Given the description of an element on the screen output the (x, y) to click on. 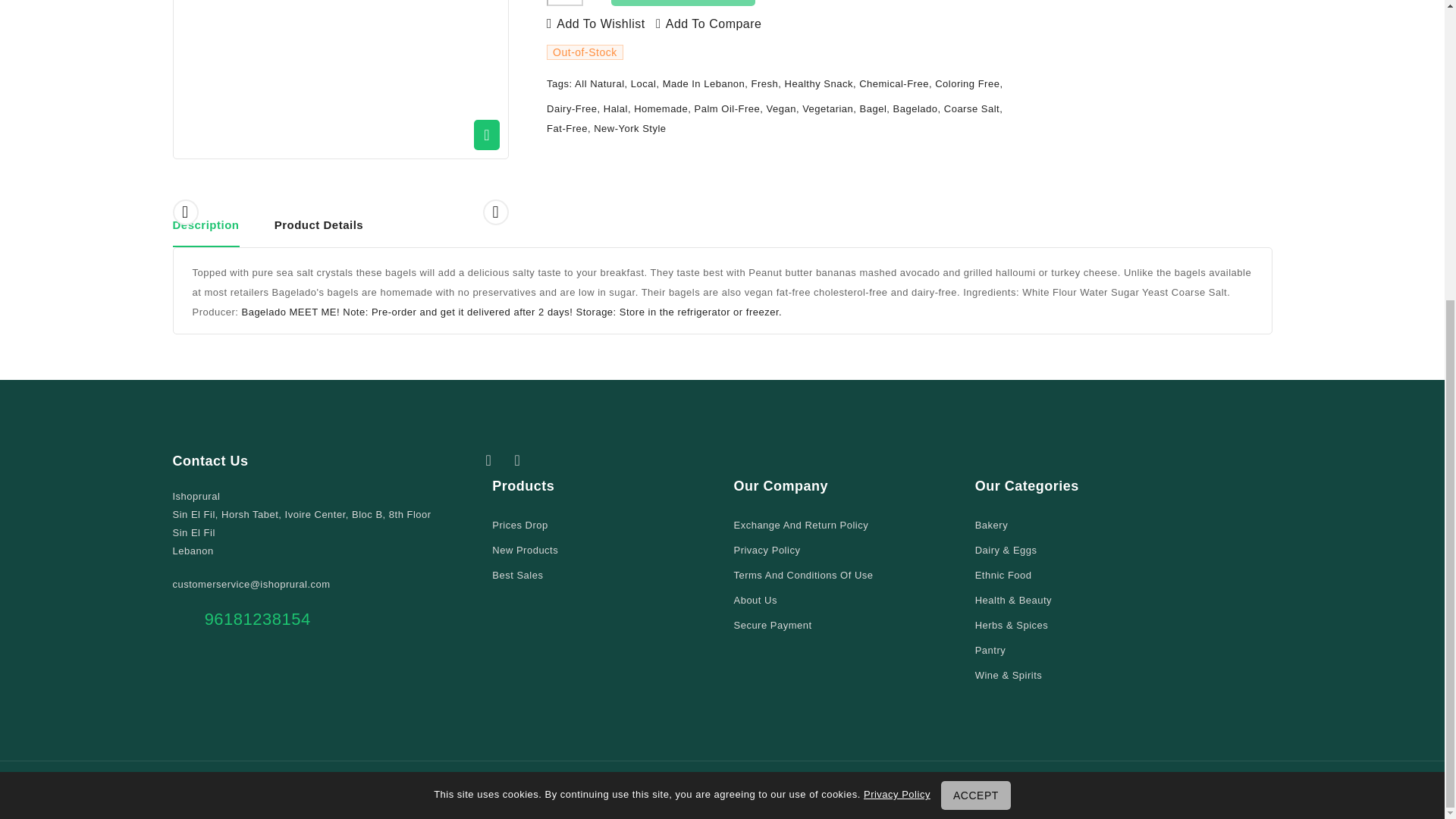
Our best sales (517, 575)
Our special products (519, 524)
1 (340, 79)
Add to Compare (708, 23)
Privacy Policy (766, 549)
Learn more about us (754, 600)
Exchange and Return Policy (800, 524)
Add to Wishlist (596, 23)
Our terms and conditions of use (802, 575)
Our new products (524, 549)
Our secure payment method (771, 625)
1 (565, 2)
